Given the description of an element on the screen output the (x, y) to click on. 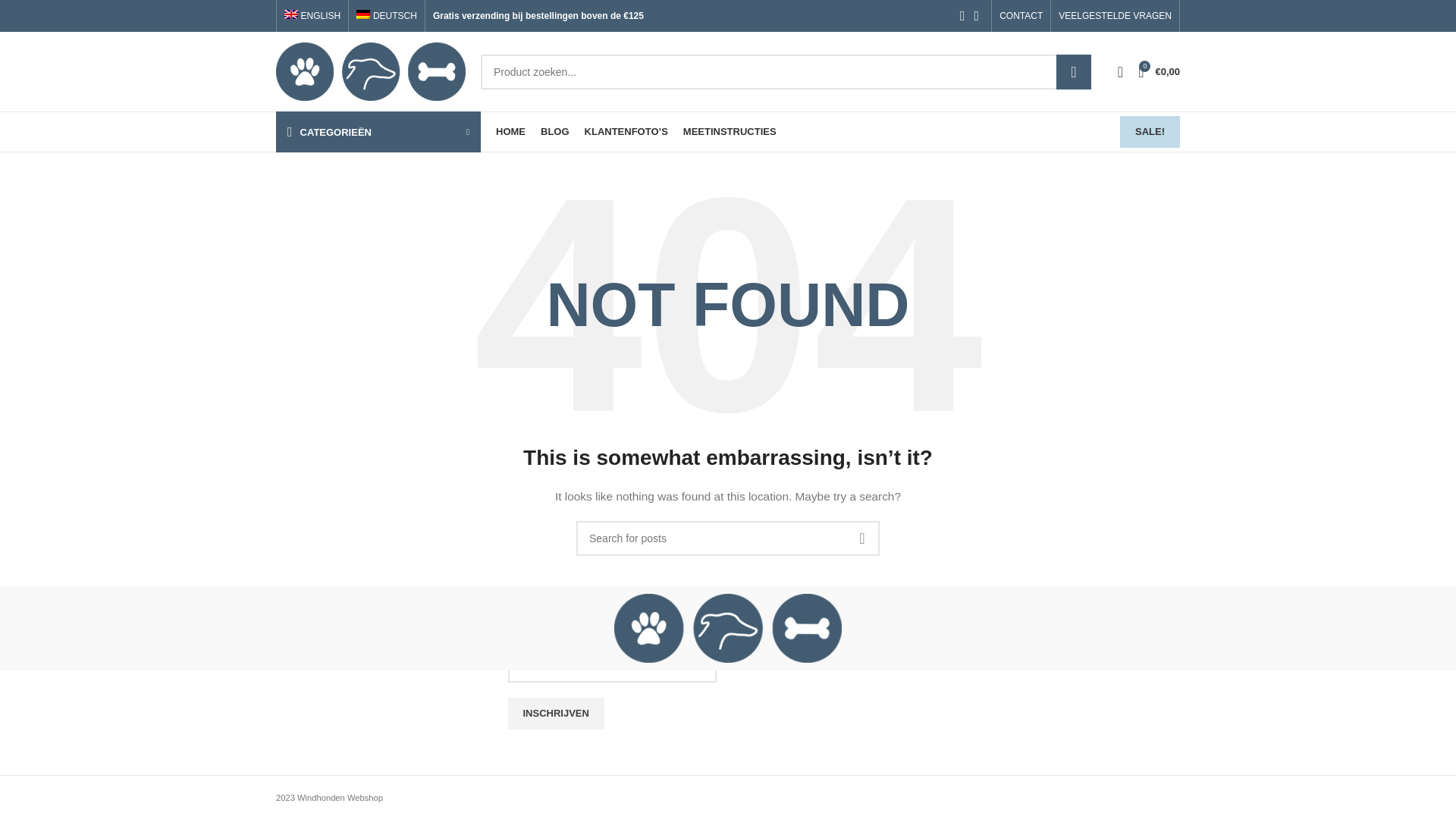
SALE! (1149, 132)
Winkelwagen (1159, 71)
HOME (510, 132)
Meetinstructies (311, 503)
SEARCH (1073, 71)
BLOG (554, 132)
ENGLISH (311, 15)
Product zoeken... (785, 71)
Deutsch (386, 15)
Verzendkosten (311, 488)
